Given the description of an element on the screen output the (x, y) to click on. 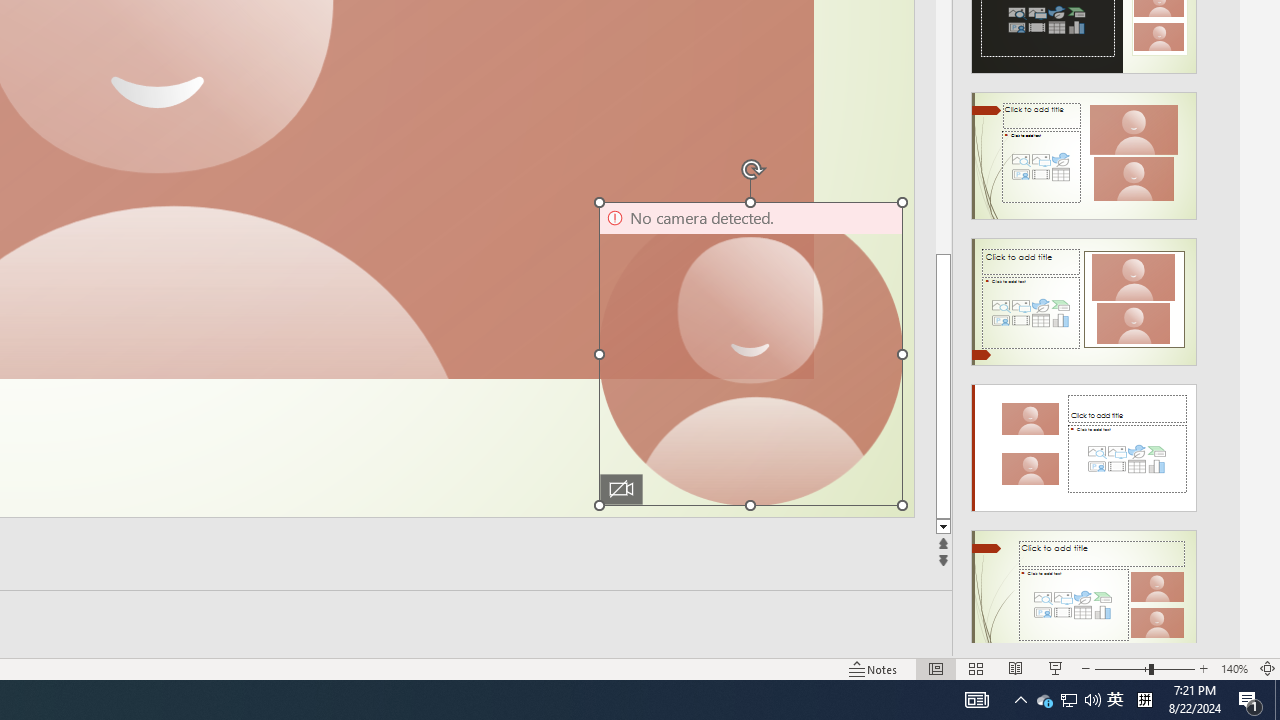
Camera 4, No camera detected. (750, 353)
Zoom 140% (1234, 668)
